Given the description of an element on the screen output the (x, y) to click on. 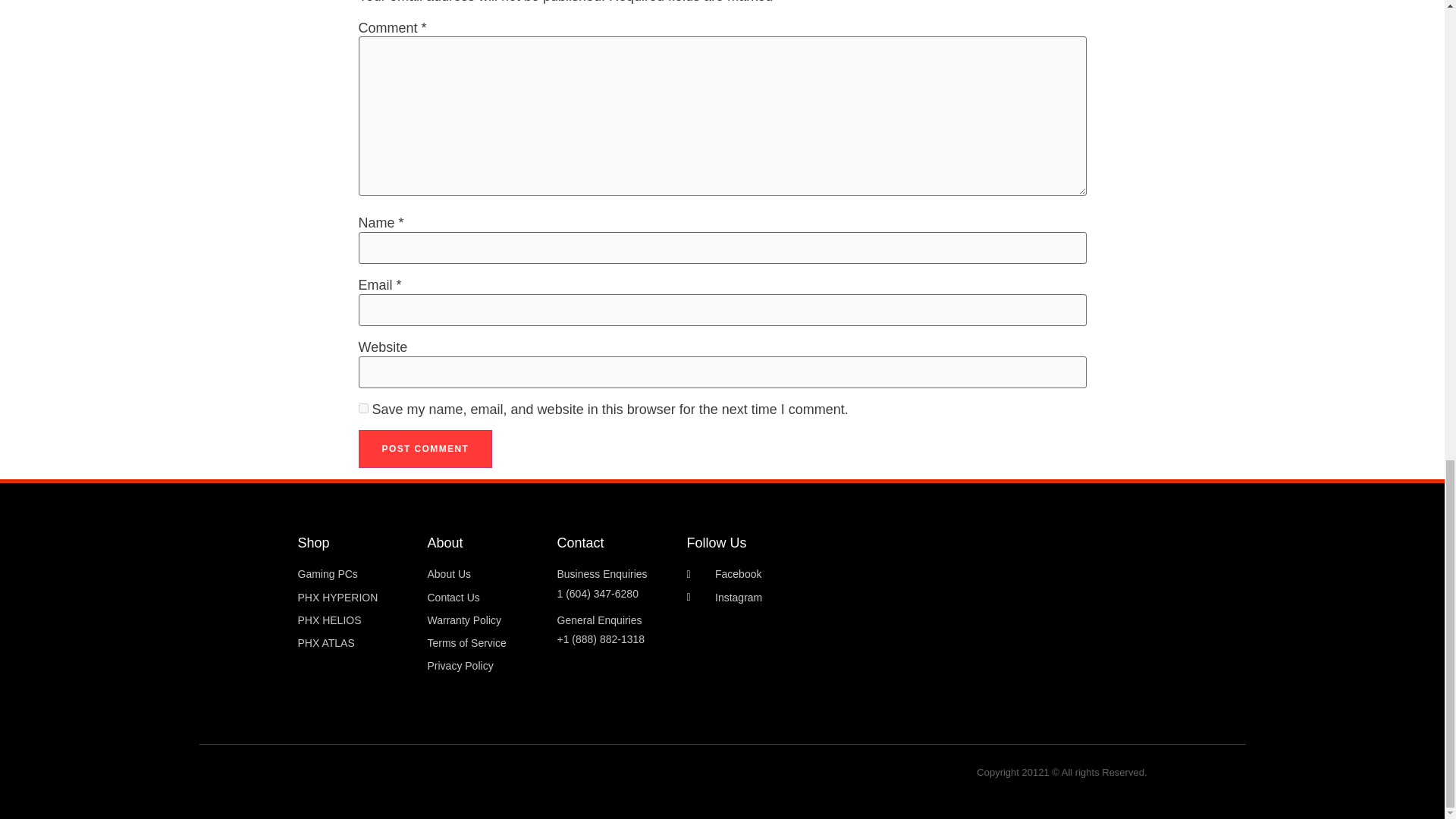
Instagram (805, 597)
Post Comment (425, 448)
PHX HYPERION (354, 597)
About Us (484, 574)
Post Comment (425, 448)
Contact Us (484, 597)
Facebook (805, 574)
Warranty Policy (484, 619)
PHX HELIOS (354, 619)
Privacy Policy (484, 665)
